Given the description of an element on the screen output the (x, y) to click on. 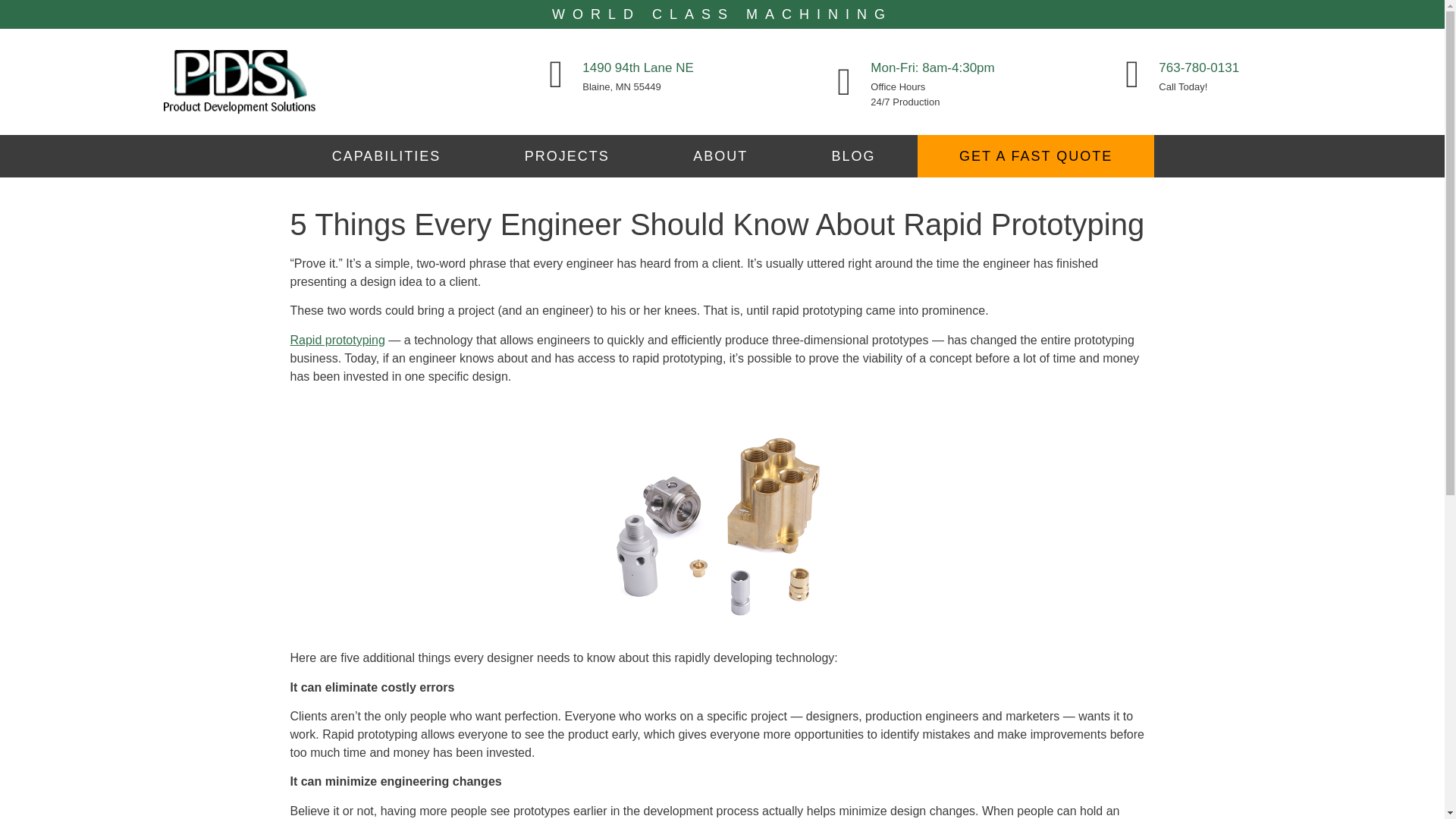
1490 94th Lane NE (638, 67)
BLOG (853, 156)
Get a fast quote (1035, 156)
About us (719, 156)
GET A FAST QUOTE (1035, 156)
Project Showcase (566, 156)
CAPABILITIES (385, 156)
Rapid prototyping (336, 339)
PROJECTS (566, 156)
Blog (853, 156)
763-780-0131 (1198, 67)
ABOUT (719, 156)
